Given the description of an element on the screen output the (x, y) to click on. 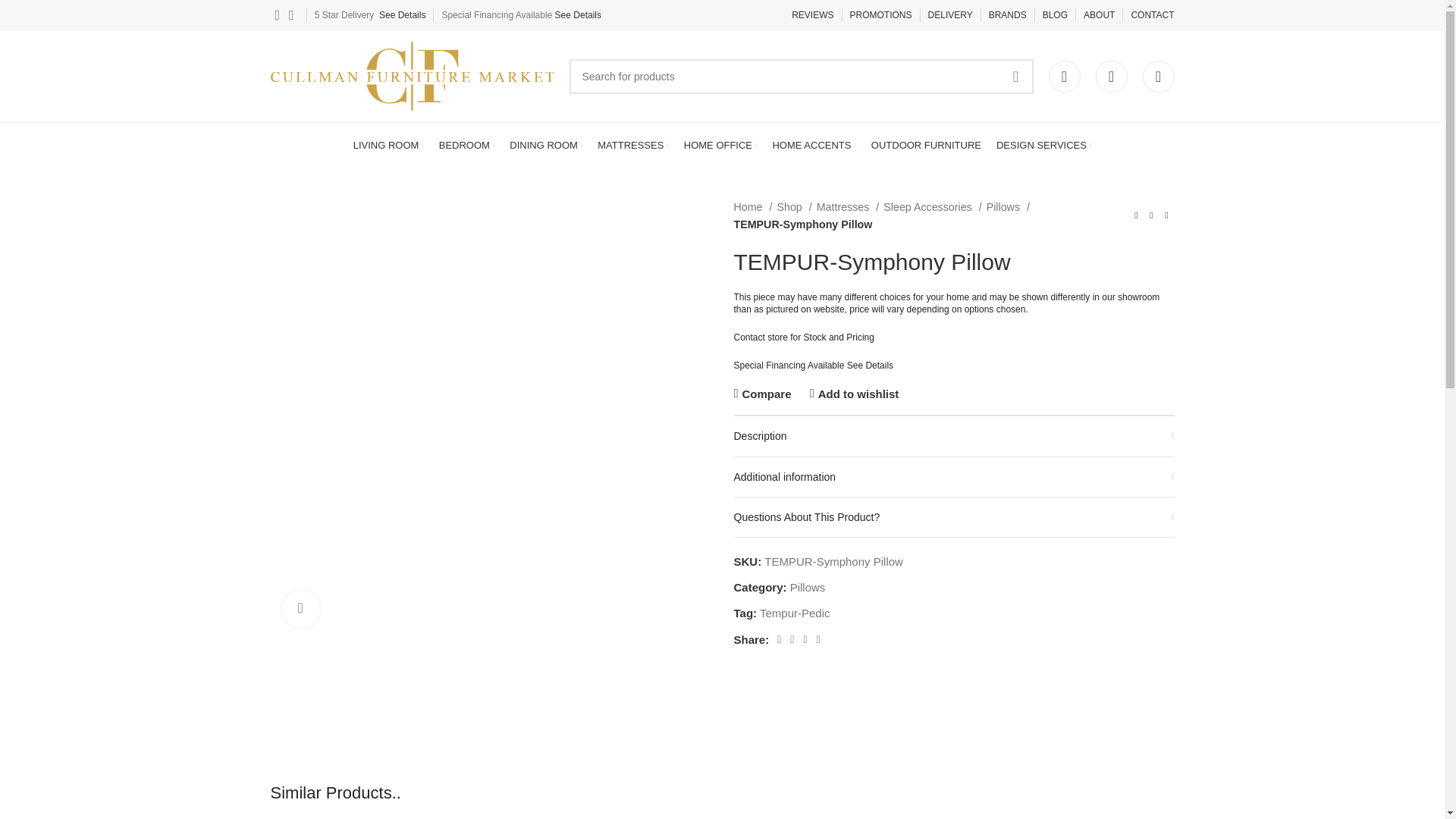
BEDROOM (467, 145)
DELIVERY (950, 15)
SEARCH (1014, 76)
Search for products (800, 76)
My account (1064, 75)
LIVING ROOM (388, 145)
CONTACT (1152, 15)
See Details (577, 14)
PROMOTIONS (881, 15)
Compare products (1157, 75)
